Given the description of an element on the screen output the (x, y) to click on. 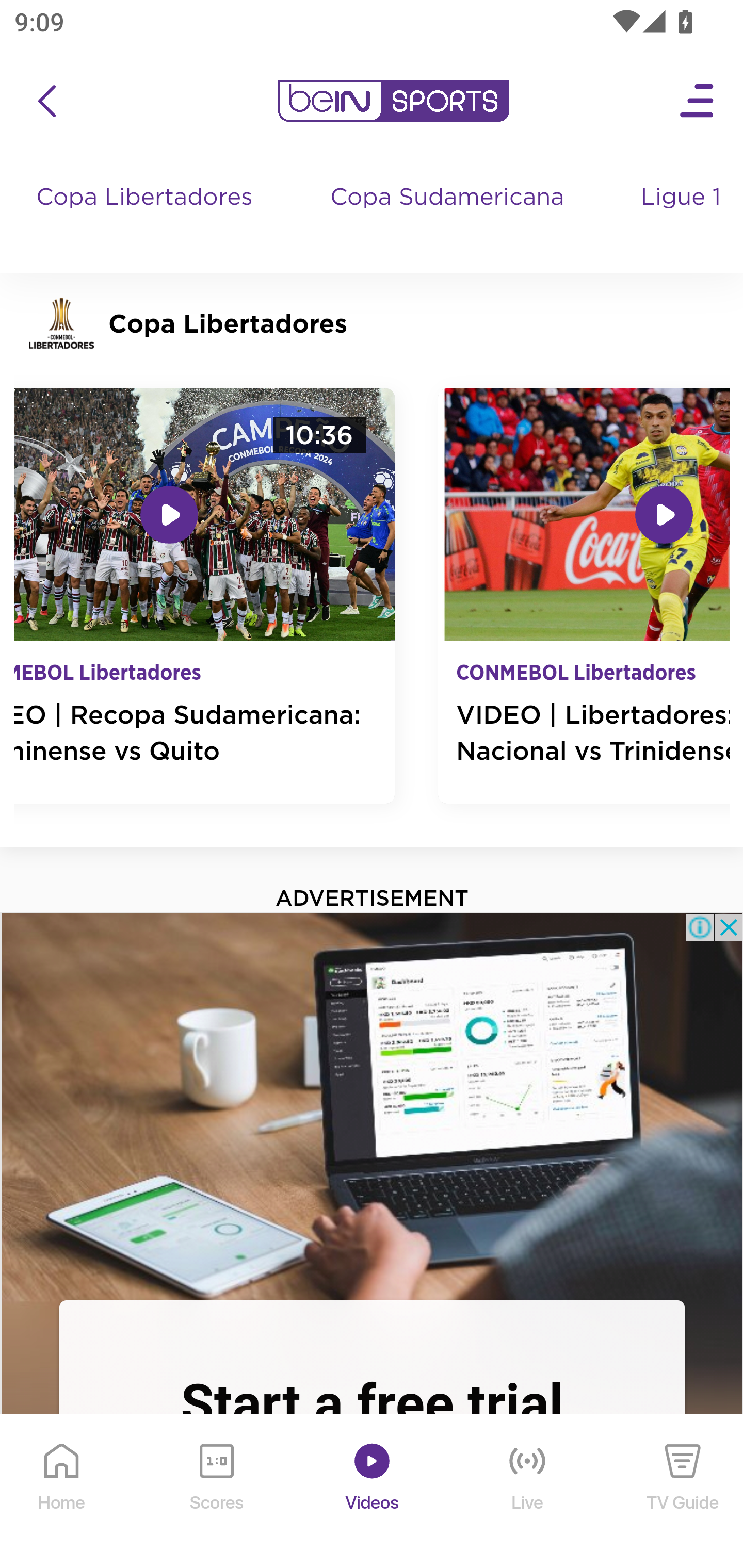
en-us?platform=mobile_android bein logo (392, 101)
icon back (46, 101)
Open Menu Icon (697, 101)
Copa Libertadores (146, 216)
Copa Sudamericana (448, 216)
Ligue 1 (682, 216)
%3Fcid%3Dppc_ROW_%7Bdscampaign%7D%26gclsrc%3Daw (371, 1105)
Home Home Icon Home (61, 1491)
Scores Scores Icon Scores (216, 1491)
Videos Videos Icon Videos (372, 1491)
TV Guide TV Guide Icon TV Guide (682, 1491)
